Given the description of an element on the screen output the (x, y) to click on. 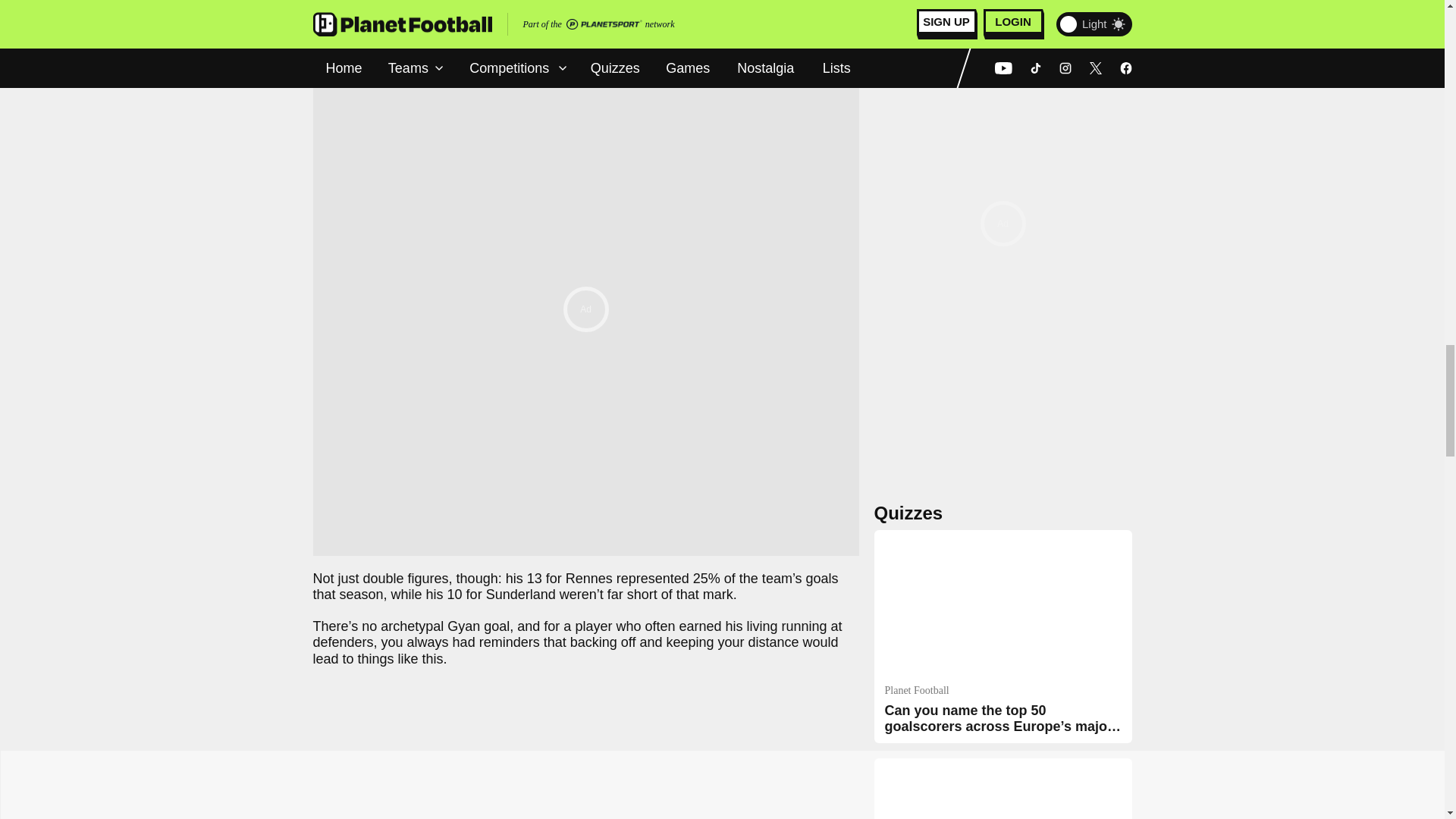
Content continues below (586, 39)
